Given the description of an element on the screen output the (x, y) to click on. 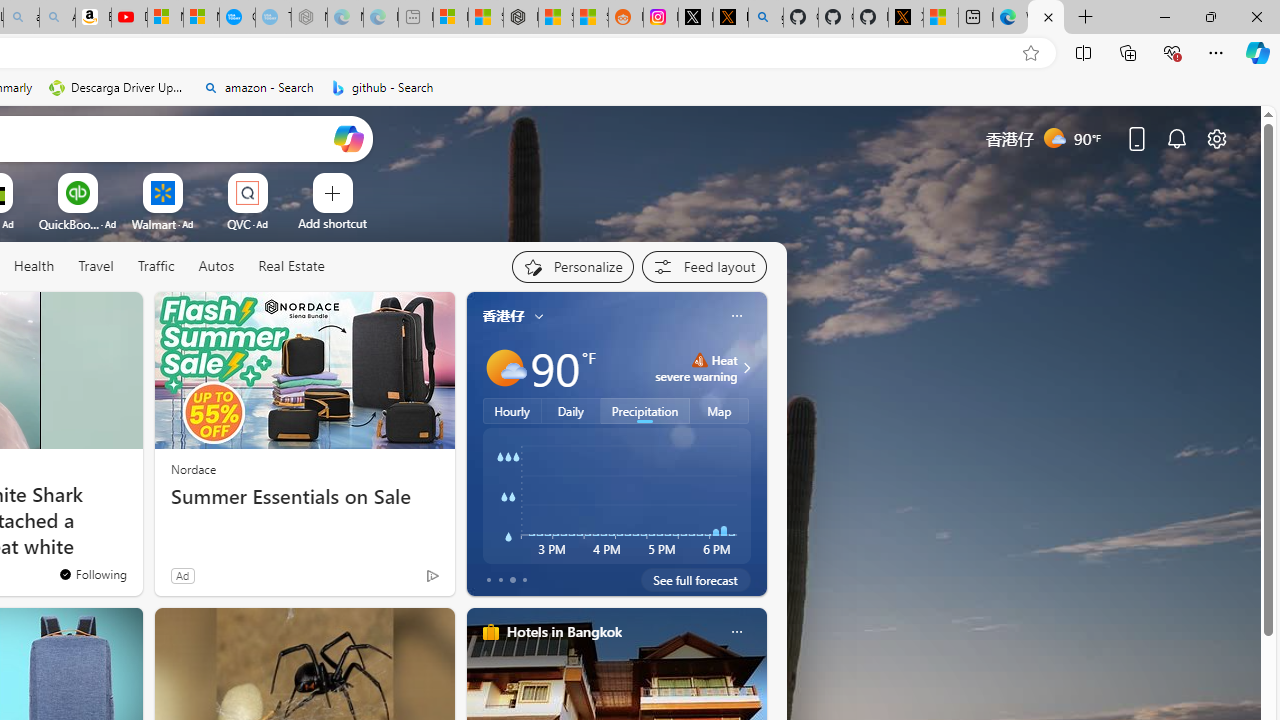
Nordace - Duffels (520, 17)
Descarga Driver Updater (118, 88)
You're following The Weather Channel (390, 579)
tab-0 (488, 579)
The most popular Google 'how to' searches - Sleeping (273, 17)
You're following FOX News (92, 573)
Class: icon-img (736, 632)
